Given the description of an element on the screen output the (x, y) to click on. 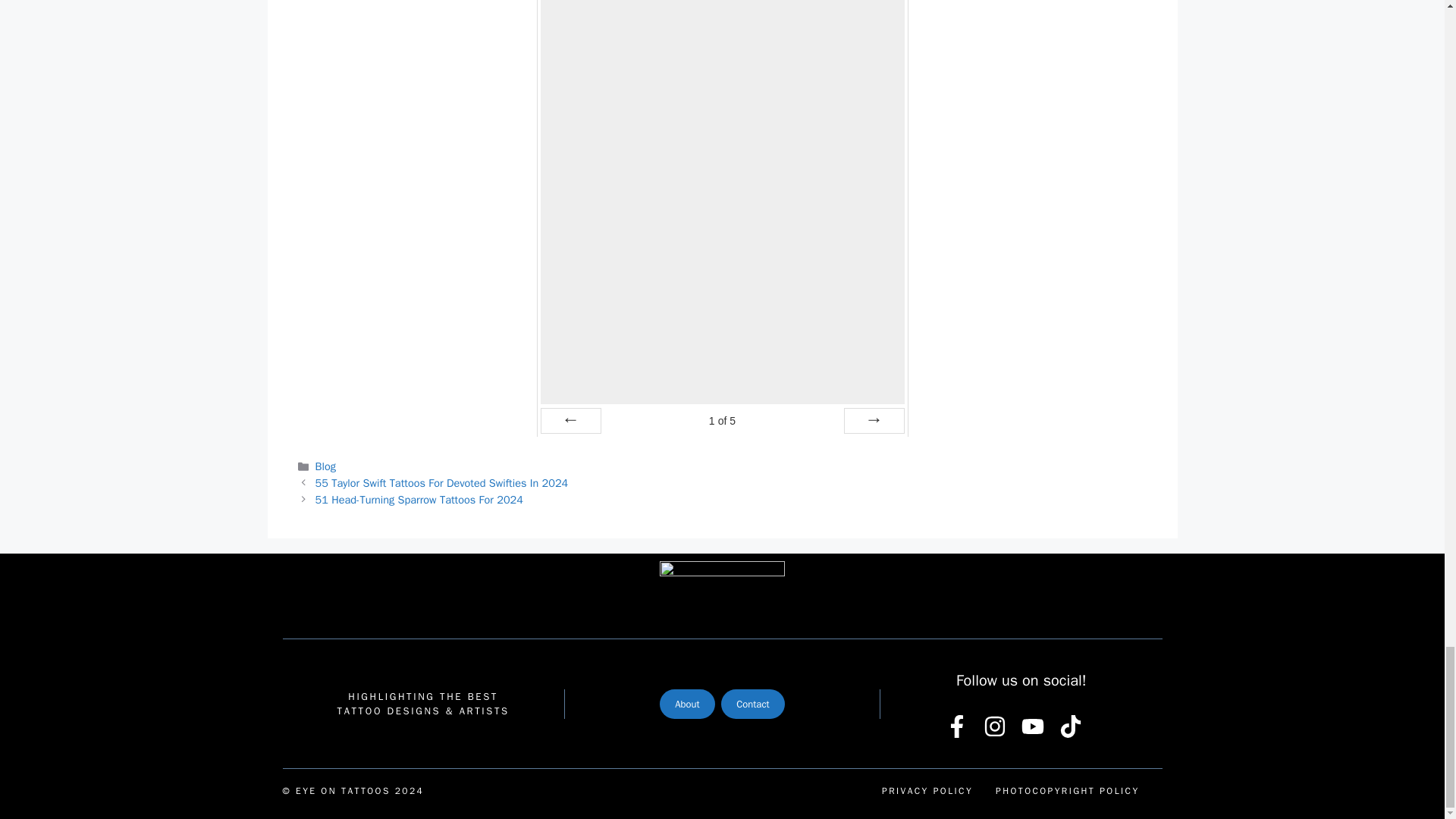
About (686, 704)
Contact (752, 704)
55 Taylor Swift Tattoos For Devoted Swifties In 2024 (1066, 790)
51 Head-Turning Sparrow Tattoos For 2024 (442, 482)
PRIVACY POLICY (418, 499)
Blog (927, 790)
